Given the description of an element on the screen output the (x, y) to click on. 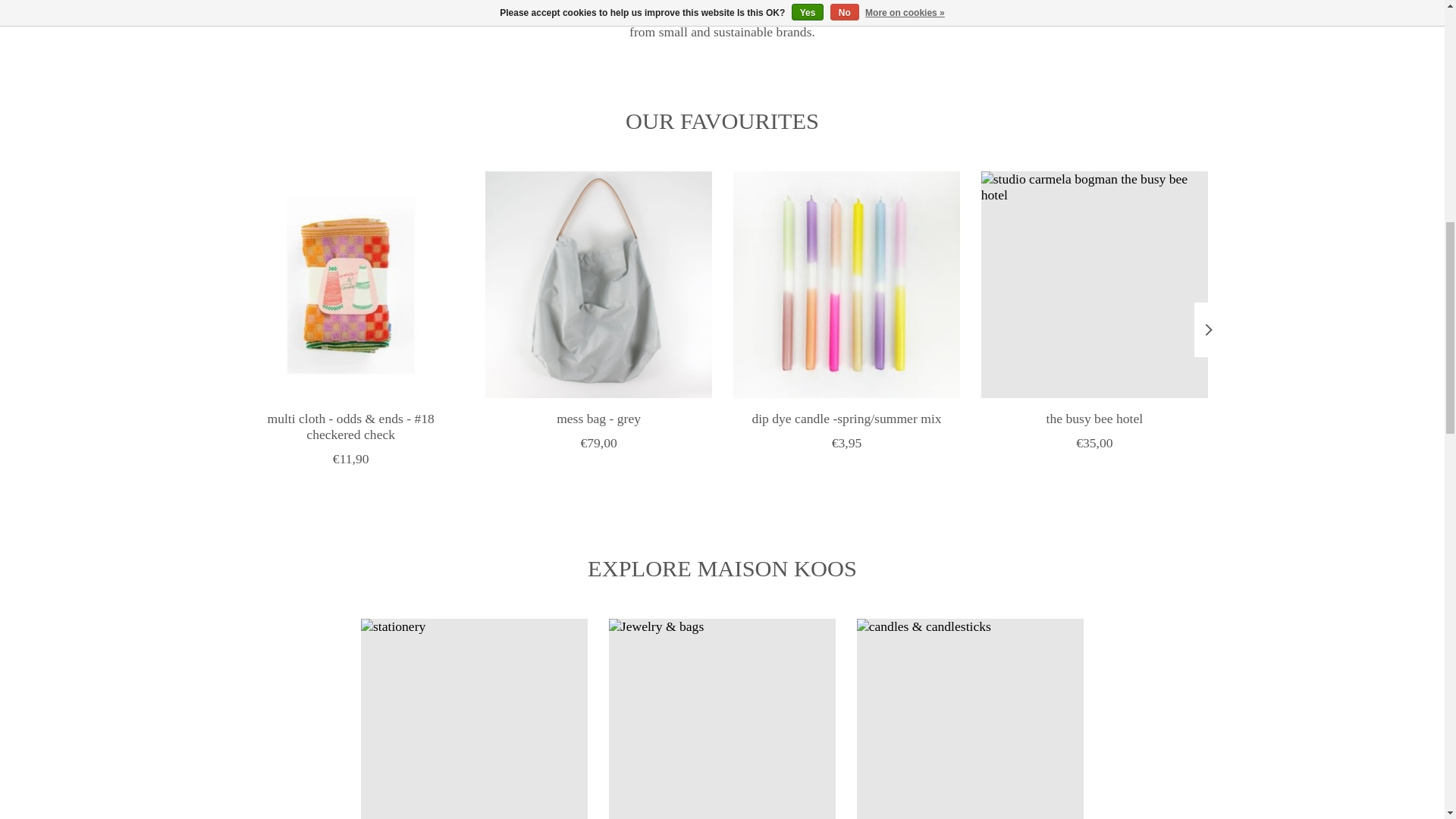
studio carmela bogman the busy bee hotel (1093, 284)
stationery (474, 719)
coa goa mess bag - grey (597, 284)
